Given the description of an element on the screen output the (x, y) to click on. 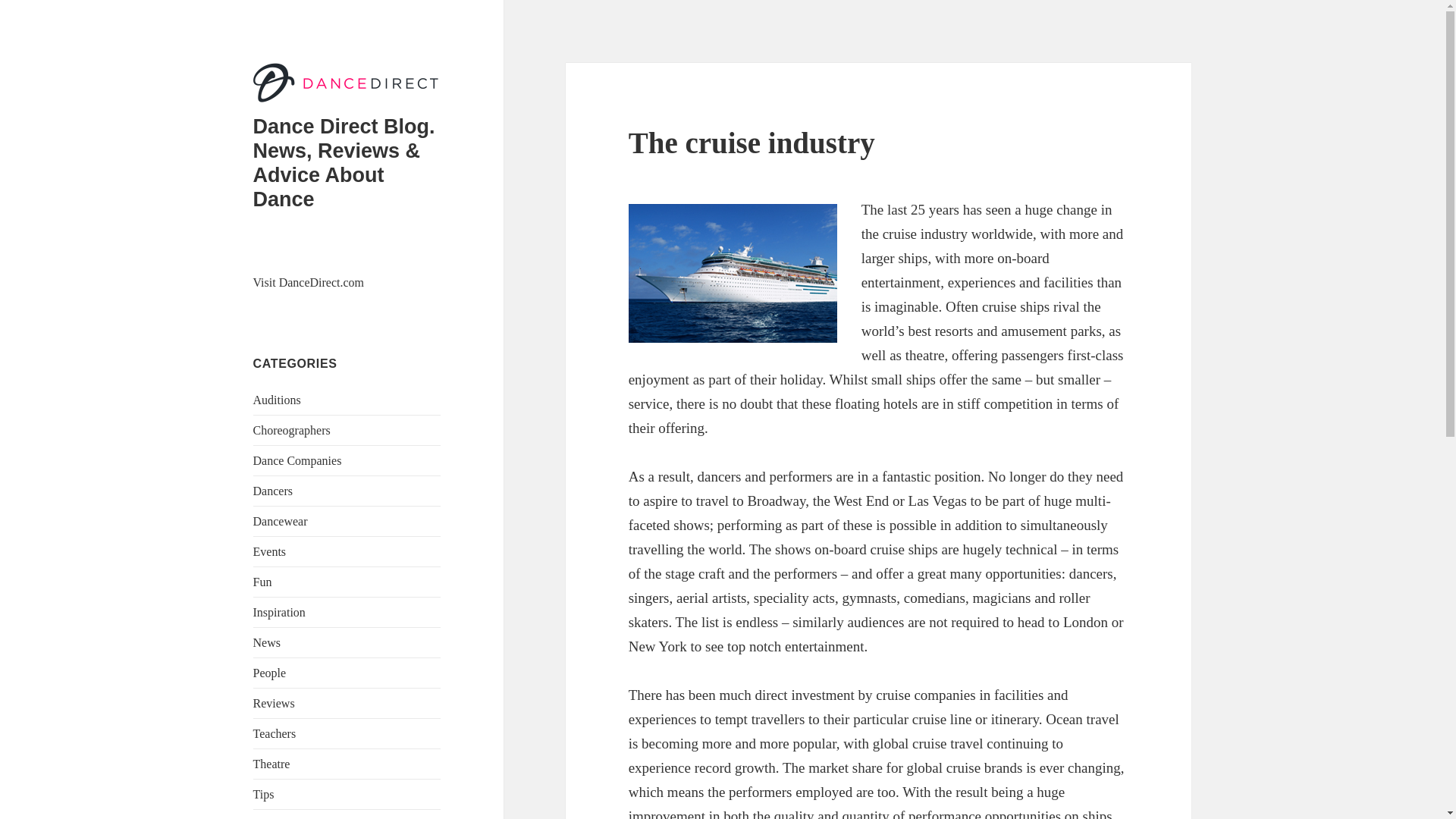
Reviews (274, 703)
Dancers (272, 490)
Tips (264, 793)
Dance Companies (297, 460)
Visit DanceDirect.com (309, 282)
Auditions (277, 399)
Events (269, 551)
Theatre (271, 763)
Dancewear (280, 521)
Choreographers (291, 430)
Teachers (275, 733)
Fun (262, 581)
News (267, 642)
Inspiration (279, 612)
People (269, 672)
